Given the description of an element on the screen output the (x, y) to click on. 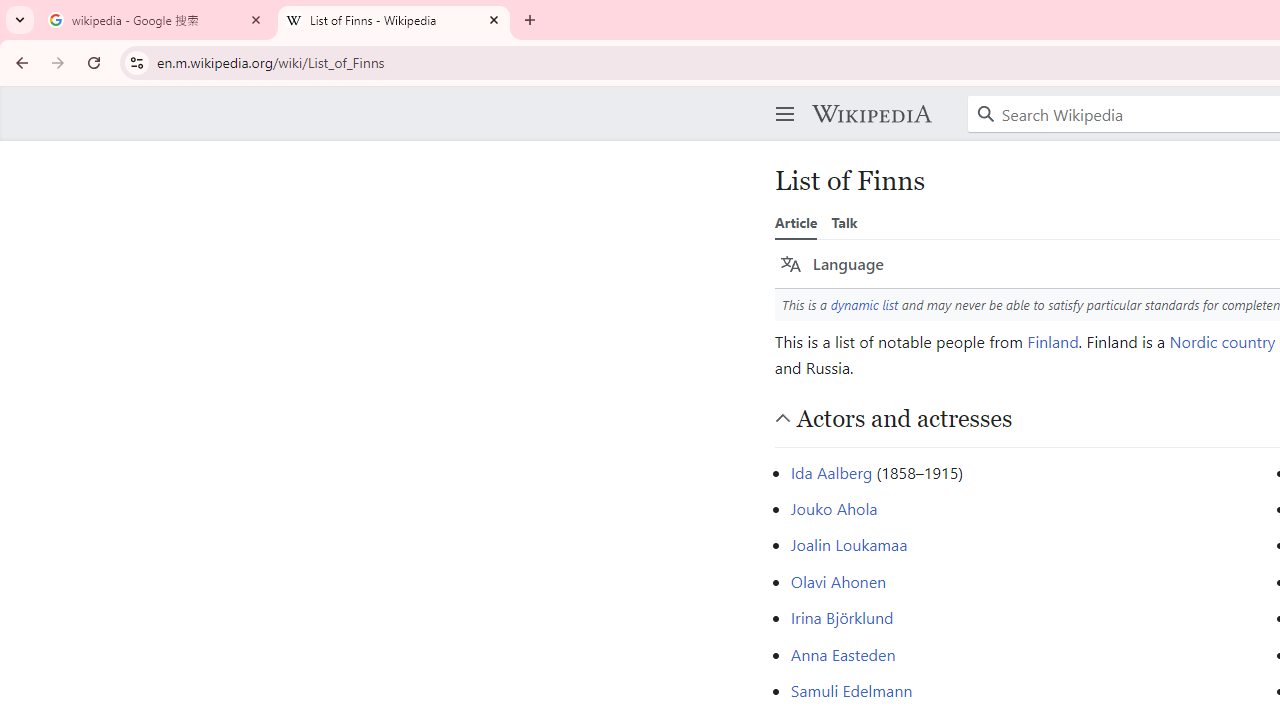
AutomationID: main-menu-input (781, 98)
Language (832, 264)
Wikipedia (871, 114)
Finland (1052, 340)
Anna Easteden (842, 653)
List of Finns - Wikipedia (394, 20)
Joalin Loukamaa (848, 544)
Jouko Ahola (833, 508)
Ida Aalberg (830, 471)
Talk (843, 222)
